Given the description of an element on the screen output the (x, y) to click on. 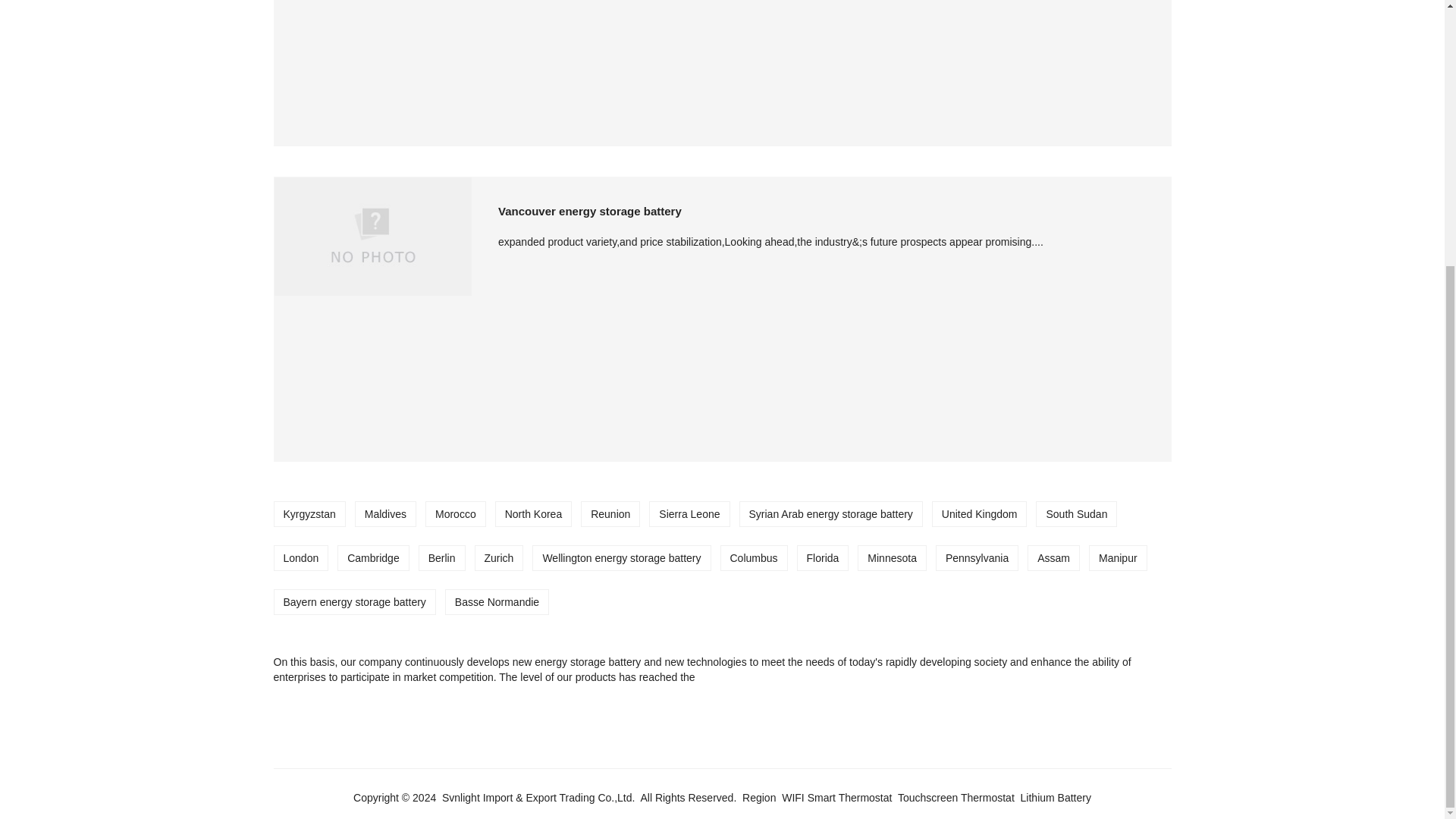
Sierra Leone (689, 514)
WIFI Smart Thermostat (836, 797)
Reunion (609, 514)
Zurich (498, 558)
Columbus (753, 558)
Berlin (441, 558)
Assam (1052, 558)
Wellington energy storage battery (621, 558)
Pennsylvania (976, 558)
South Sudan (1076, 514)
United Kingdom (979, 514)
North Korea (533, 514)
Basse Normandie (496, 601)
Kyrgyzstan (310, 514)
